Given the description of an element on the screen output the (x, y) to click on. 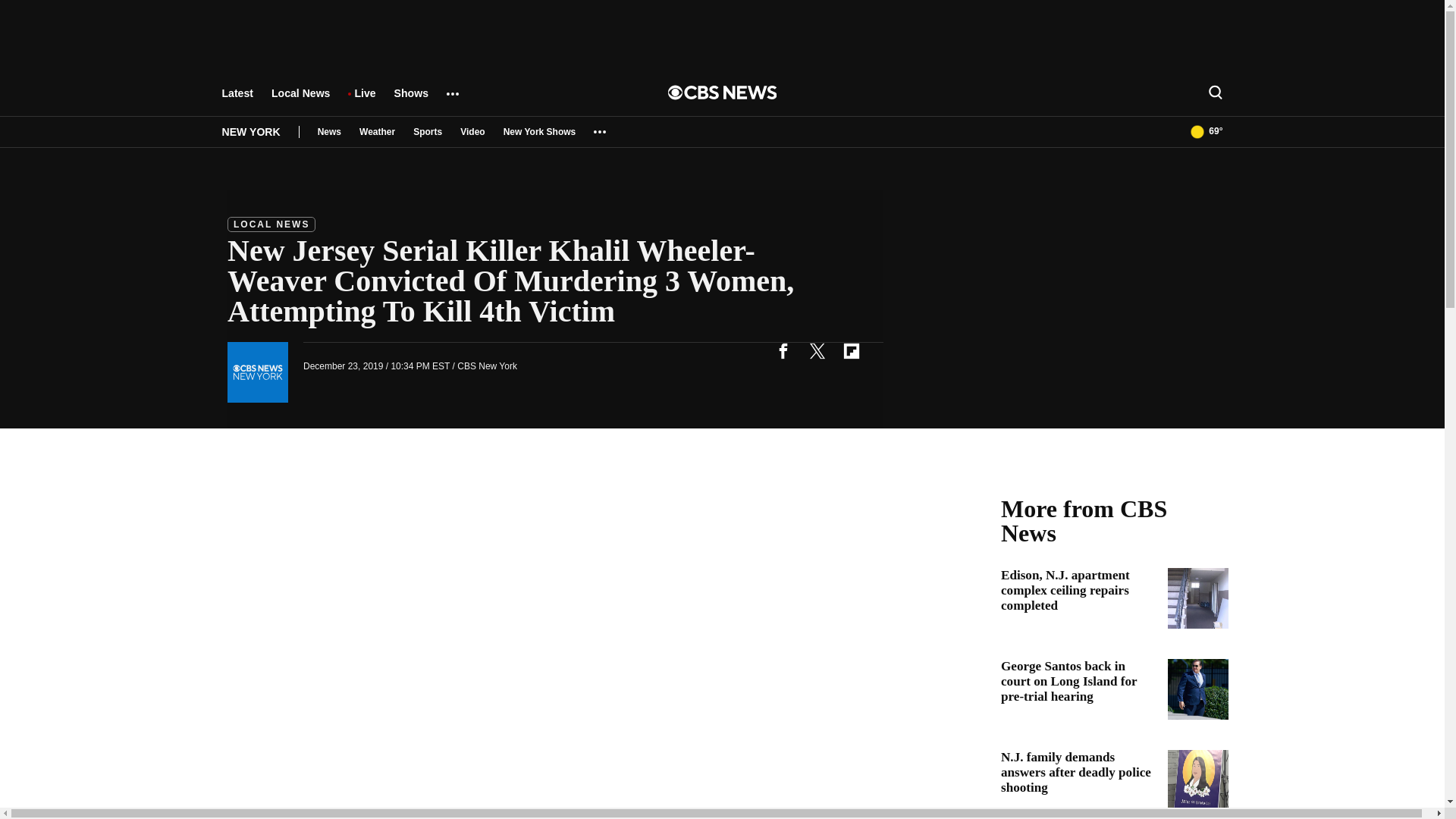
flipboard (850, 350)
twitter (816, 350)
Latest (236, 100)
facebook (782, 350)
Local News (300, 100)
